Given the description of an element on the screen output the (x, y) to click on. 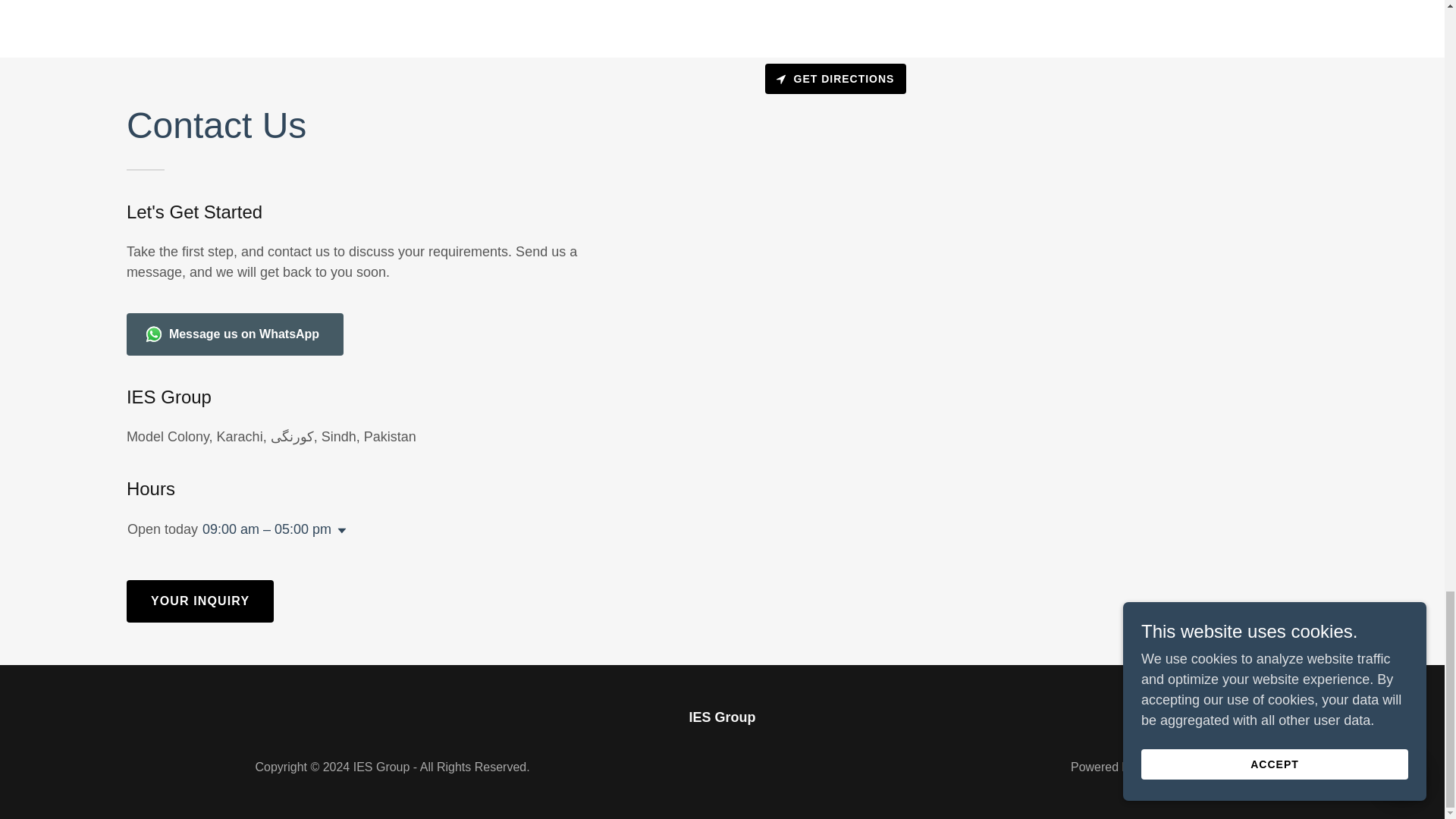
Message us on WhatsApp (234, 333)
YOUR INQUIRY (199, 600)
GET DIRECTIONS (834, 78)
GoDaddy (1163, 766)
